Given the description of an element on the screen output the (x, y) to click on. 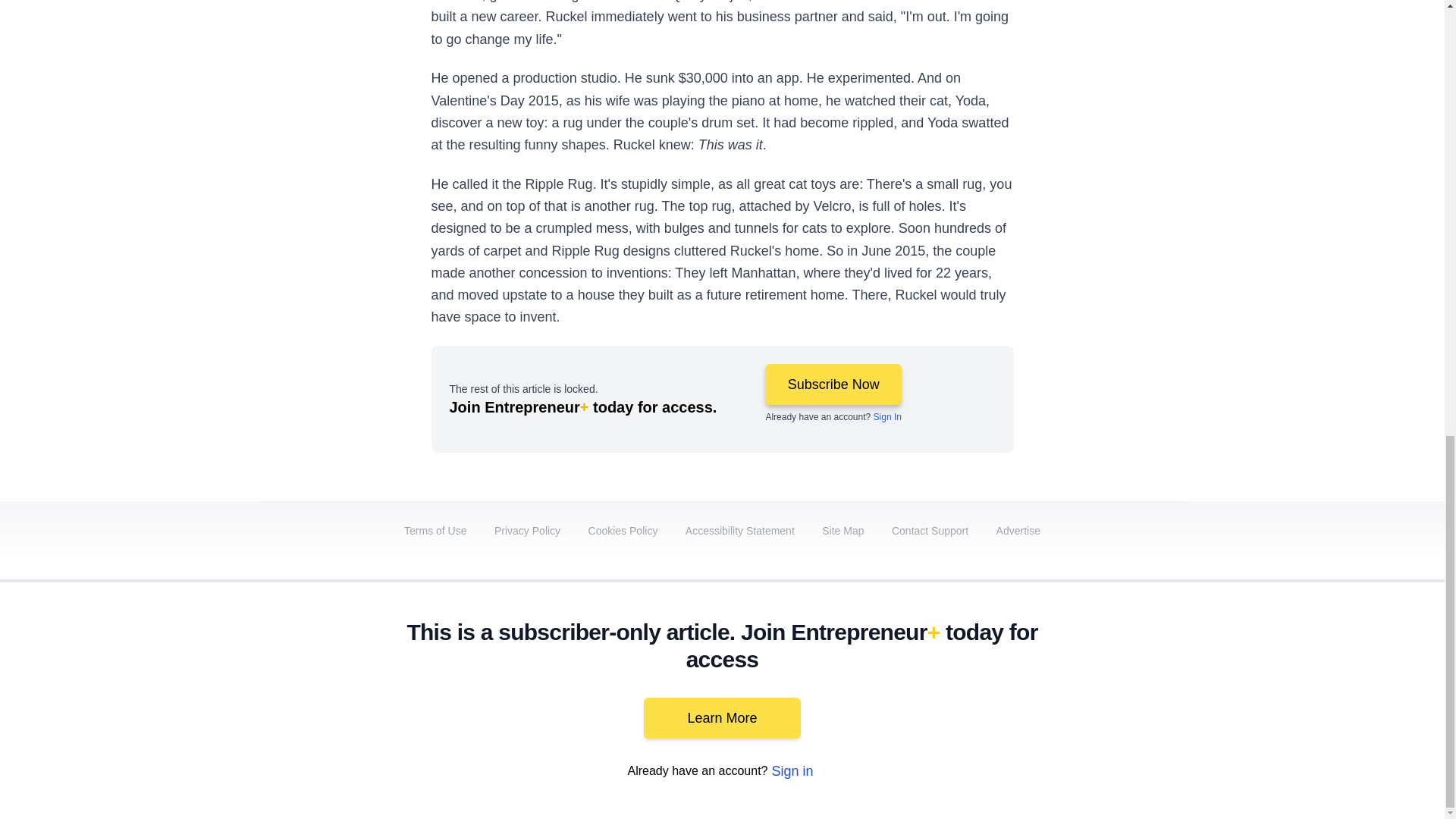
twitter (909, 691)
tiktok (1079, 691)
instagram (1037, 691)
linkedin (952, 691)
youtube (994, 691)
facebook (866, 691)
snapchat (1121, 691)
rss (1164, 691)
